Given the description of an element on the screen output the (x, y) to click on. 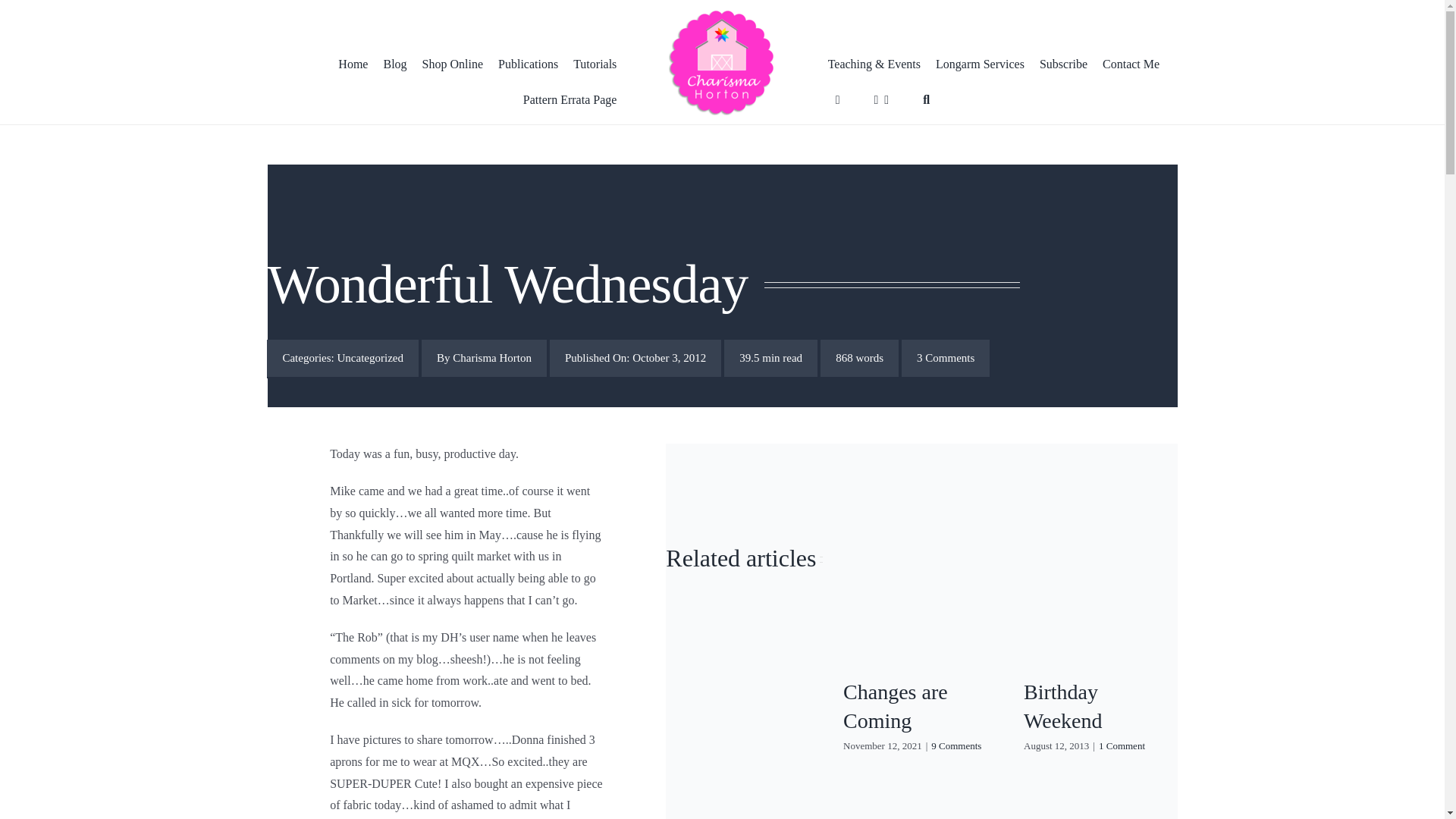
Blog (394, 65)
Posts by Charisma Horton (491, 357)
Contact Me (1130, 65)
Home (352, 65)
Birthday Weekend (1062, 706)
Tutorials (595, 65)
Shop Online (452, 65)
Subscribe (1063, 65)
Pattern Errata Page (566, 100)
Publications (528, 65)
Log In (1015, 273)
Changes are Coming (895, 706)
Longarm Services (980, 65)
